Given the description of an element on the screen output the (x, y) to click on. 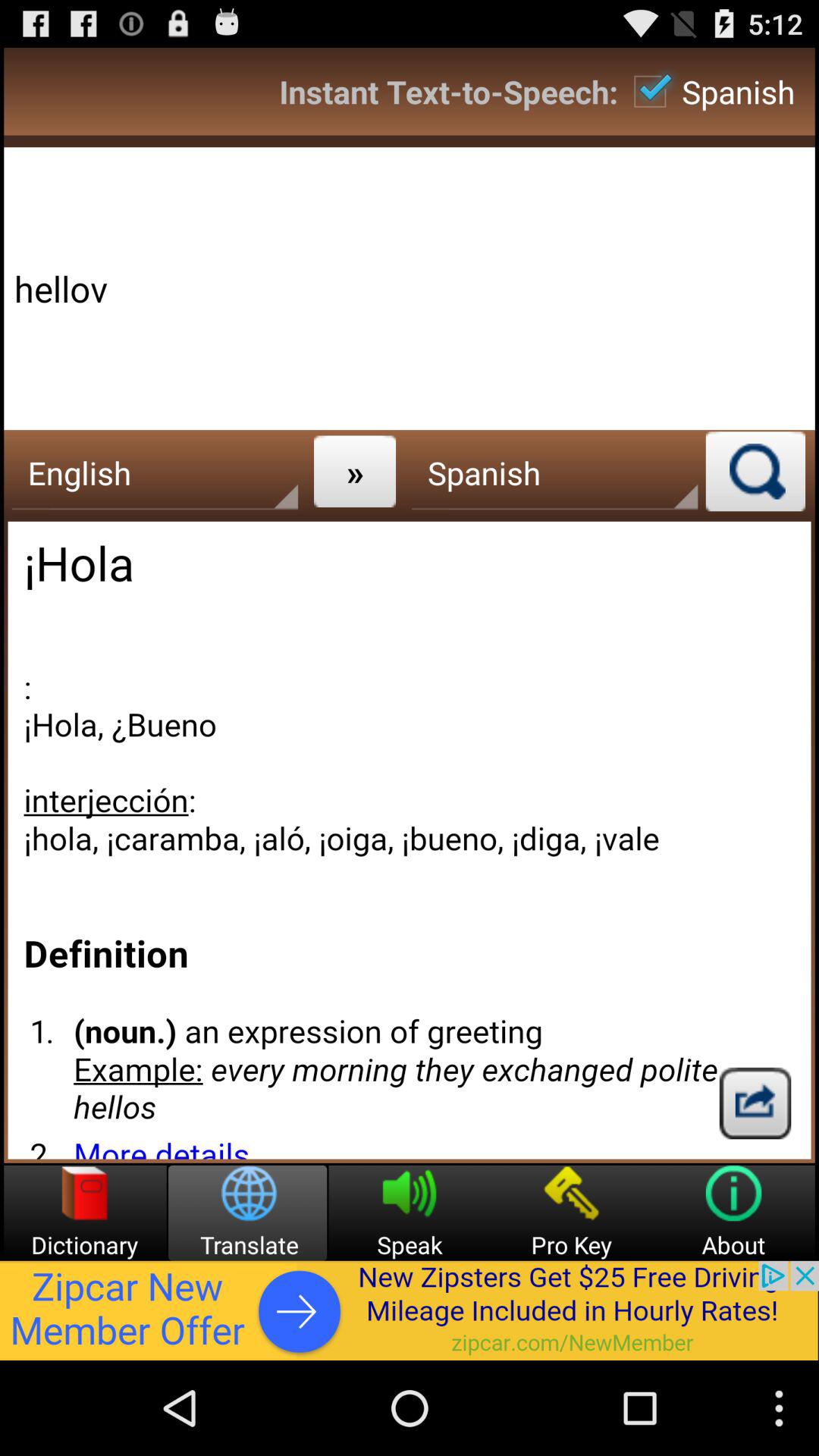
share the translation (755, 1103)
